Given the description of an element on the screen output the (x, y) to click on. 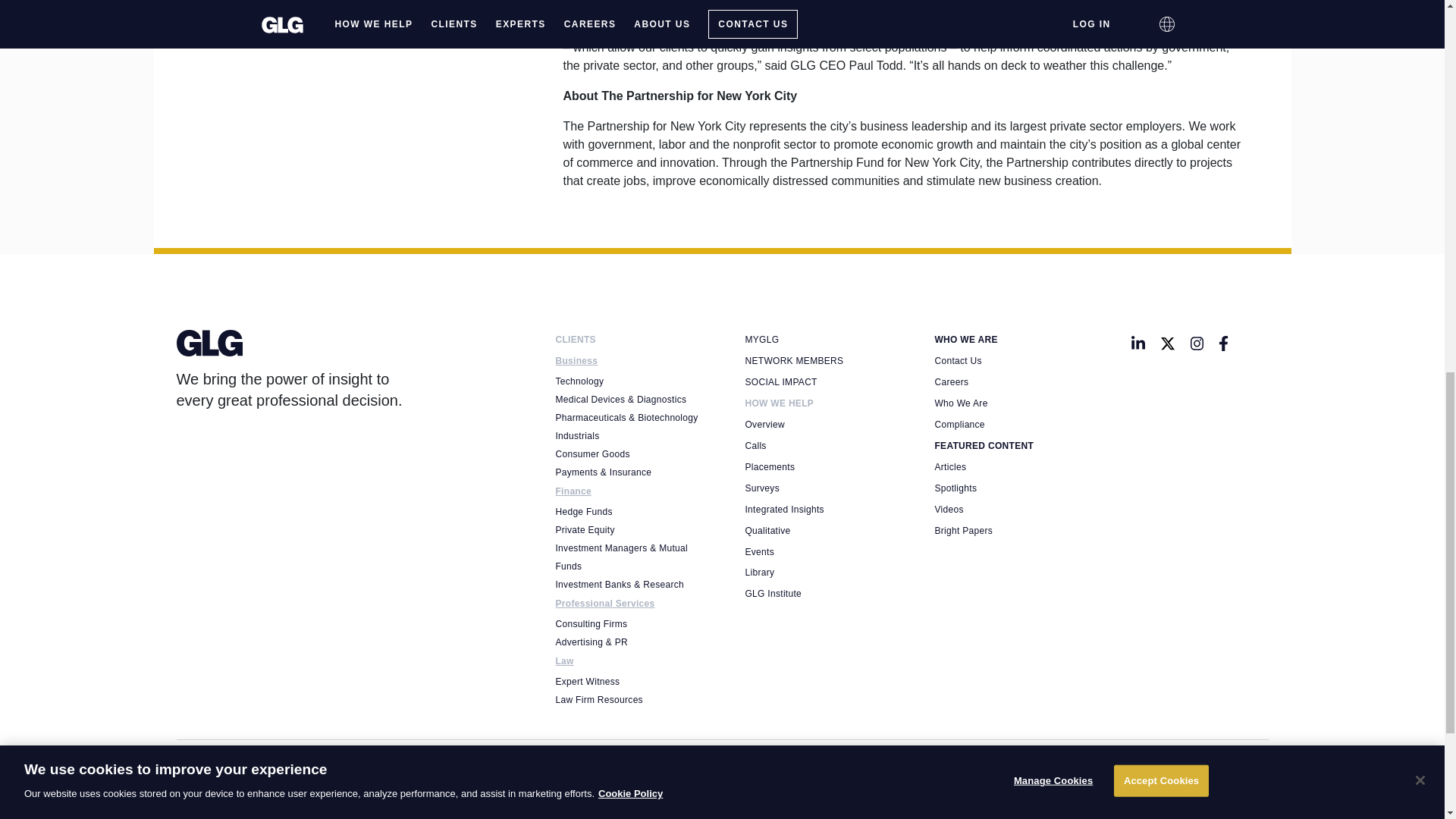
Instagram (1197, 343)
LinkedIn (1137, 343)
Twitter (1167, 343)
